Given the description of an element on the screen output the (x, y) to click on. 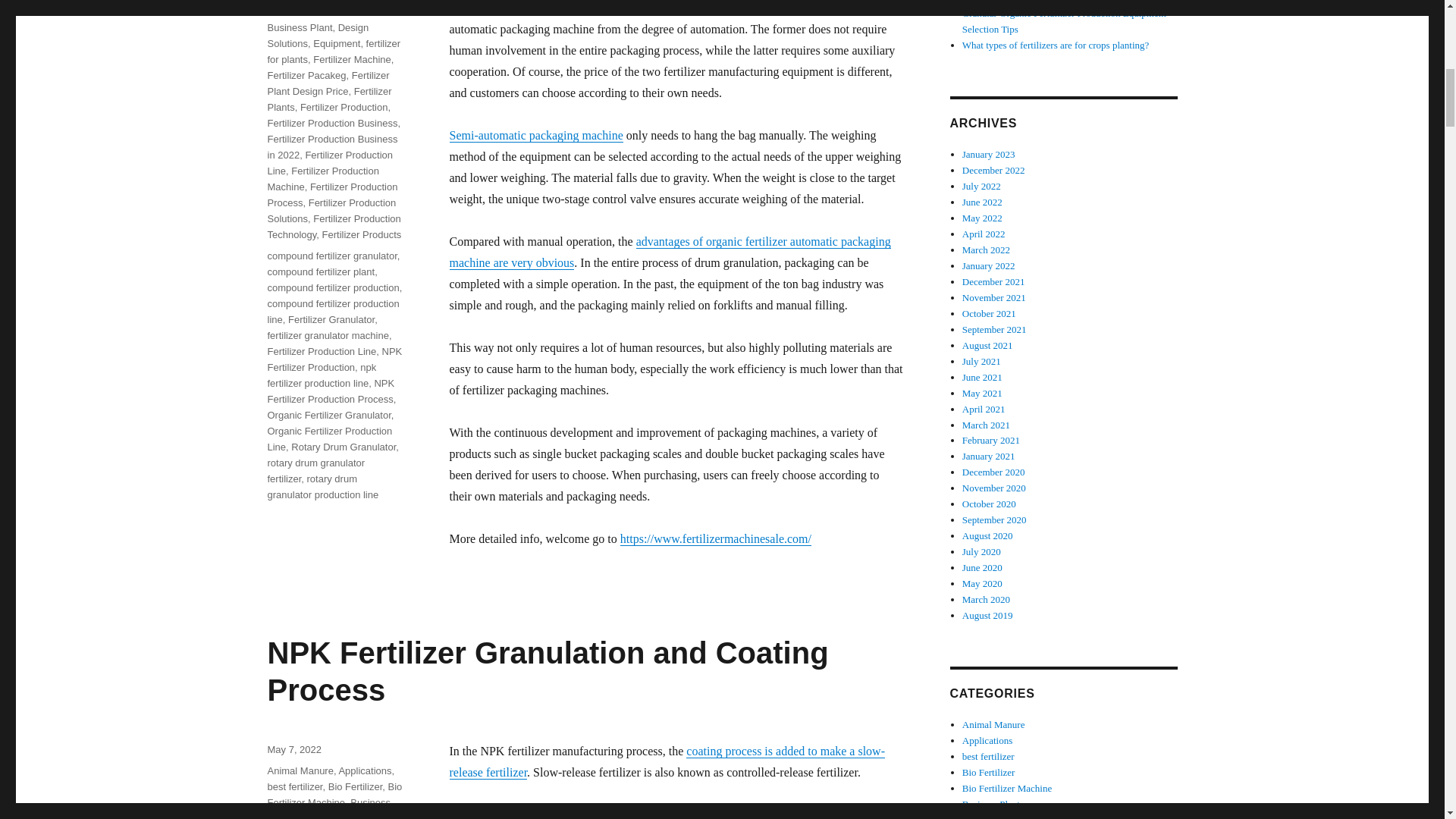
Fertilizer Production Line (329, 162)
Fertilizer Production Technology (333, 226)
compound fertilizer plant (320, 271)
Fertilizer Machine (352, 59)
Fertilizer Production Business in 2022 (331, 146)
Fertilizer Production Process (331, 194)
compound fertilizer granulator (331, 255)
Fertilizer Production Line (320, 351)
Fertilizer Products (361, 234)
fertilizer granulator machine (327, 335)
